Given the description of an element on the screen output the (x, y) to click on. 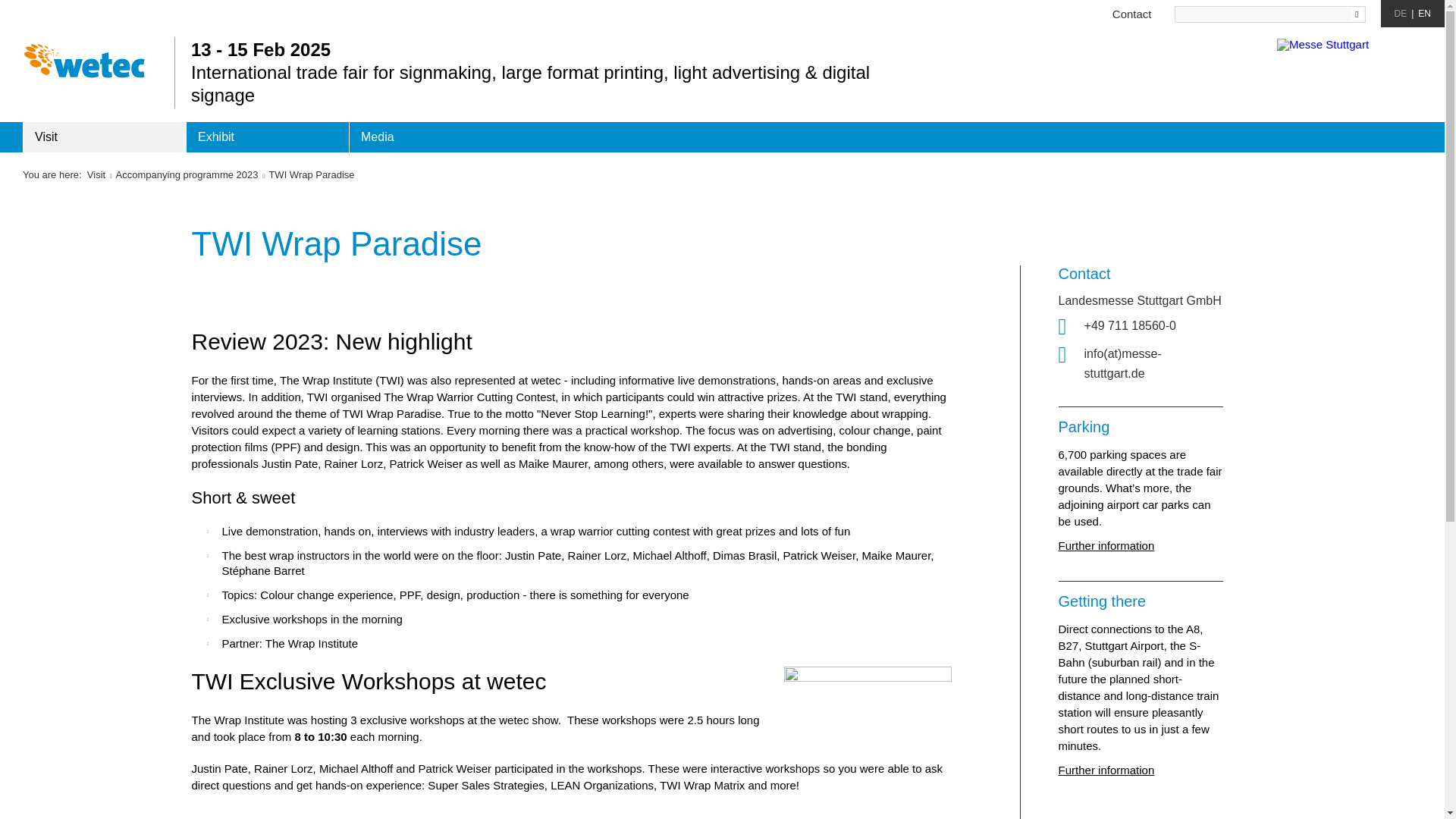
Exhibit (267, 137)
English (1424, 13)
DE (1400, 13)
Visit (104, 137)
Contact (1131, 13)
Messe Stuttgart (1349, 61)
German (1400, 13)
wetec (84, 61)
